Given the description of an element on the screen output the (x, y) to click on. 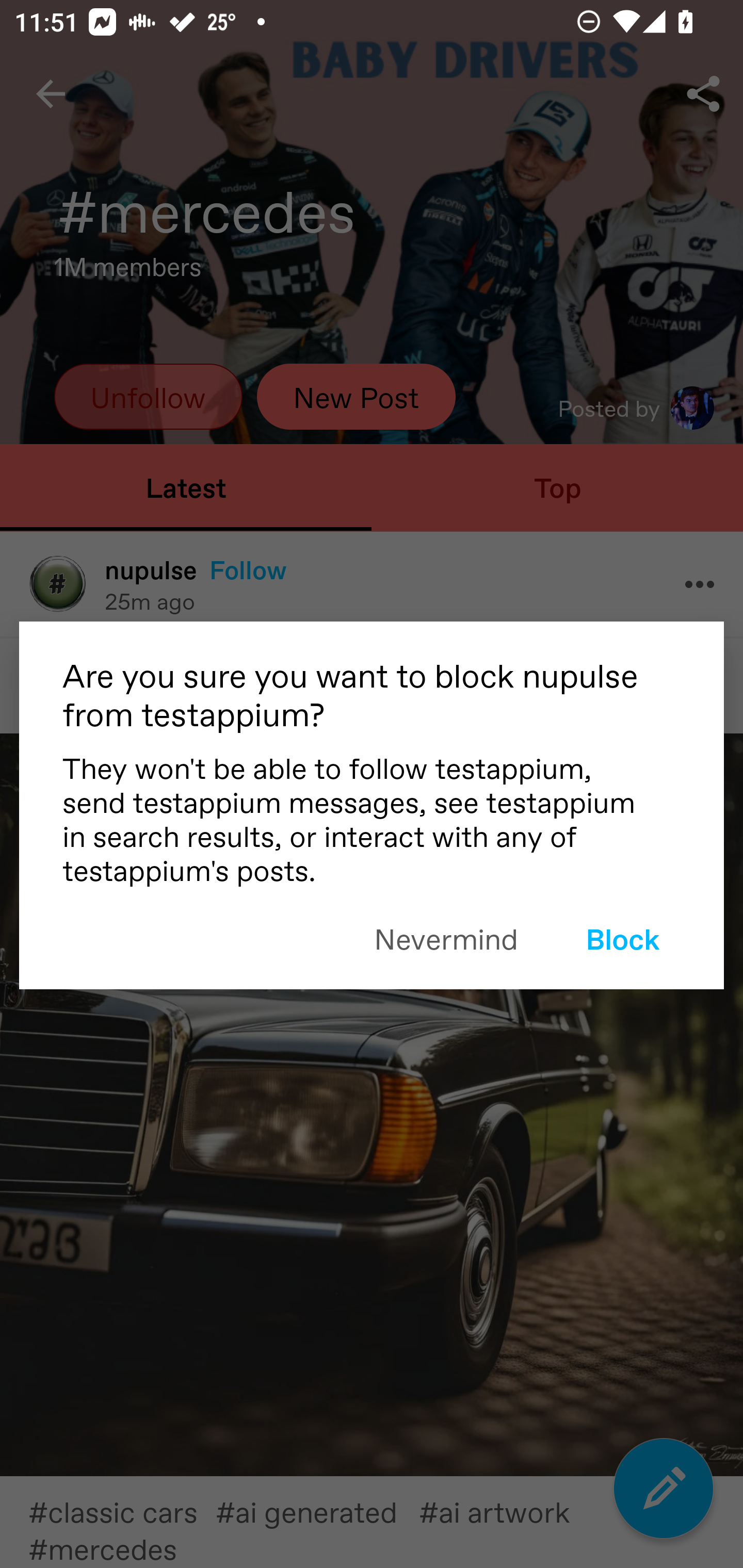
Nevermind (445, 938)
Block (622, 938)
